Given the description of an element on the screen output the (x, y) to click on. 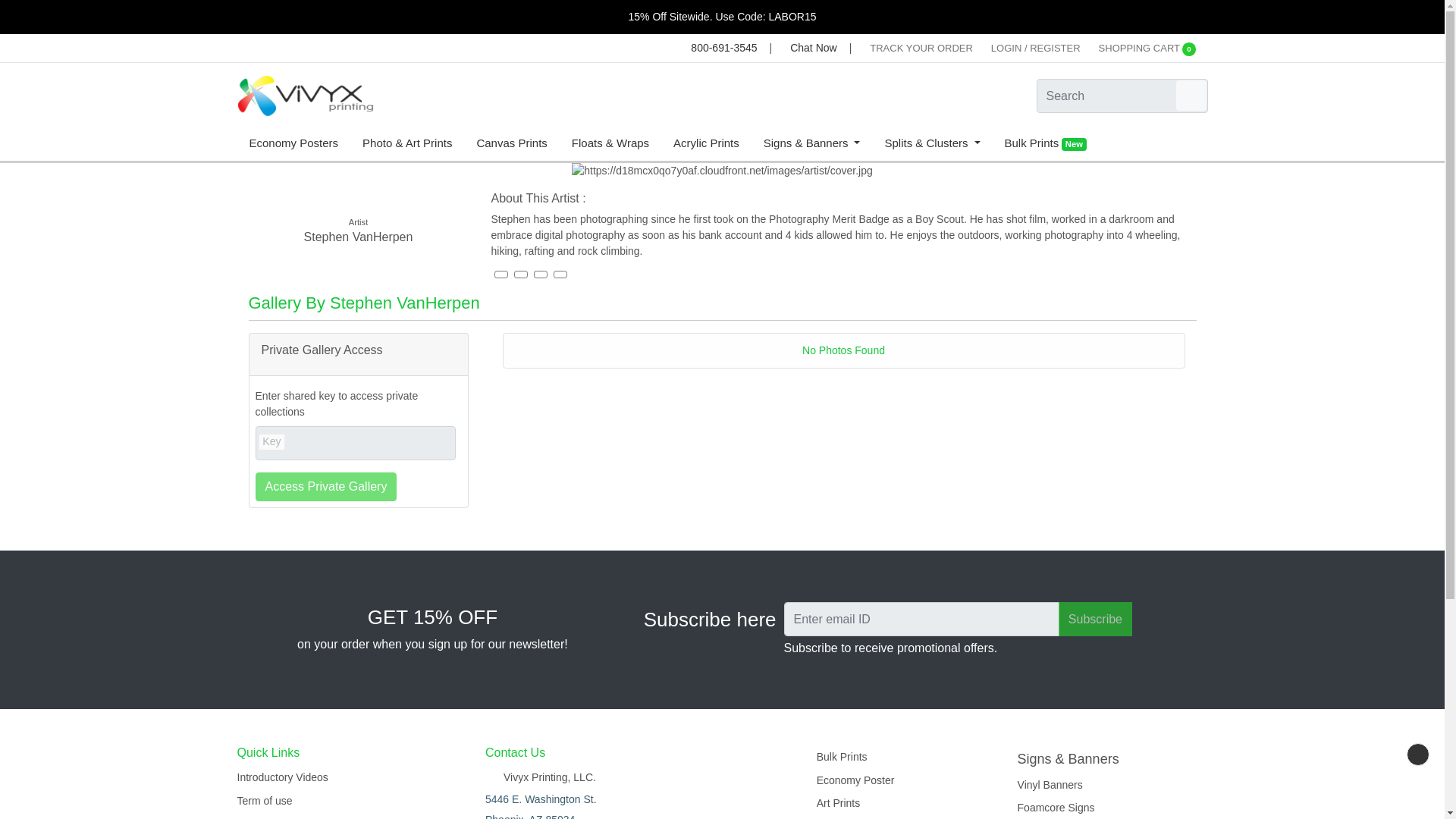
My Twitter (560, 274)
My Linkedin (540, 274)
Bulk Prints New (1044, 144)
Economy Posters (292, 144)
SHOPPING CART 0 (1147, 48)
Address (539, 778)
Acrylic Prints (706, 144)
Chat Now (809, 47)
800-691-3545 (720, 47)
Access Private Gallery (325, 486)
